Given the description of an element on the screen output the (x, y) to click on. 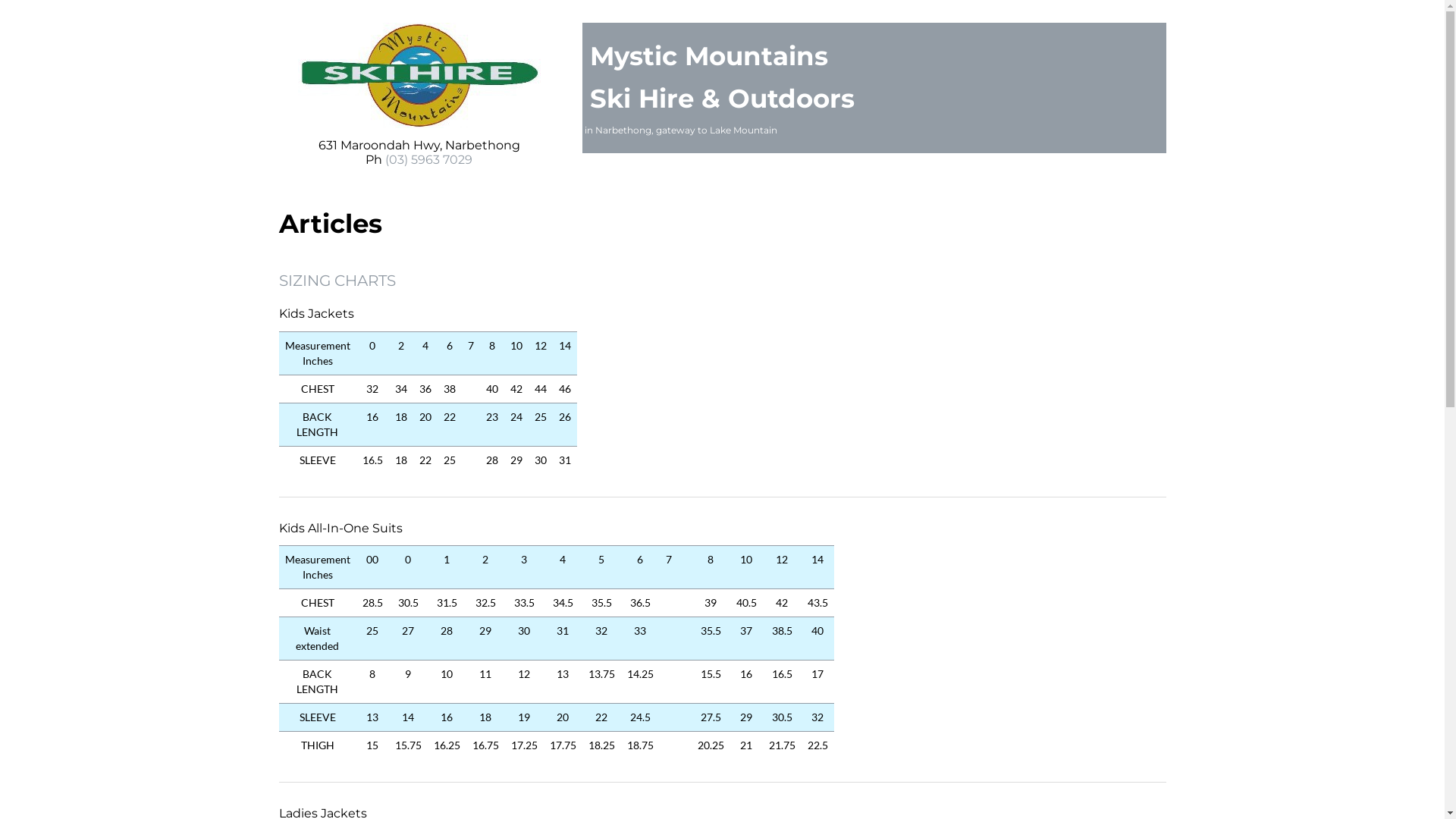
(03) 5963 7029 Element type: text (428, 159)
SIZING CHARTS Element type: text (337, 280)
